Given the description of an element on the screen output the (x, y) to click on. 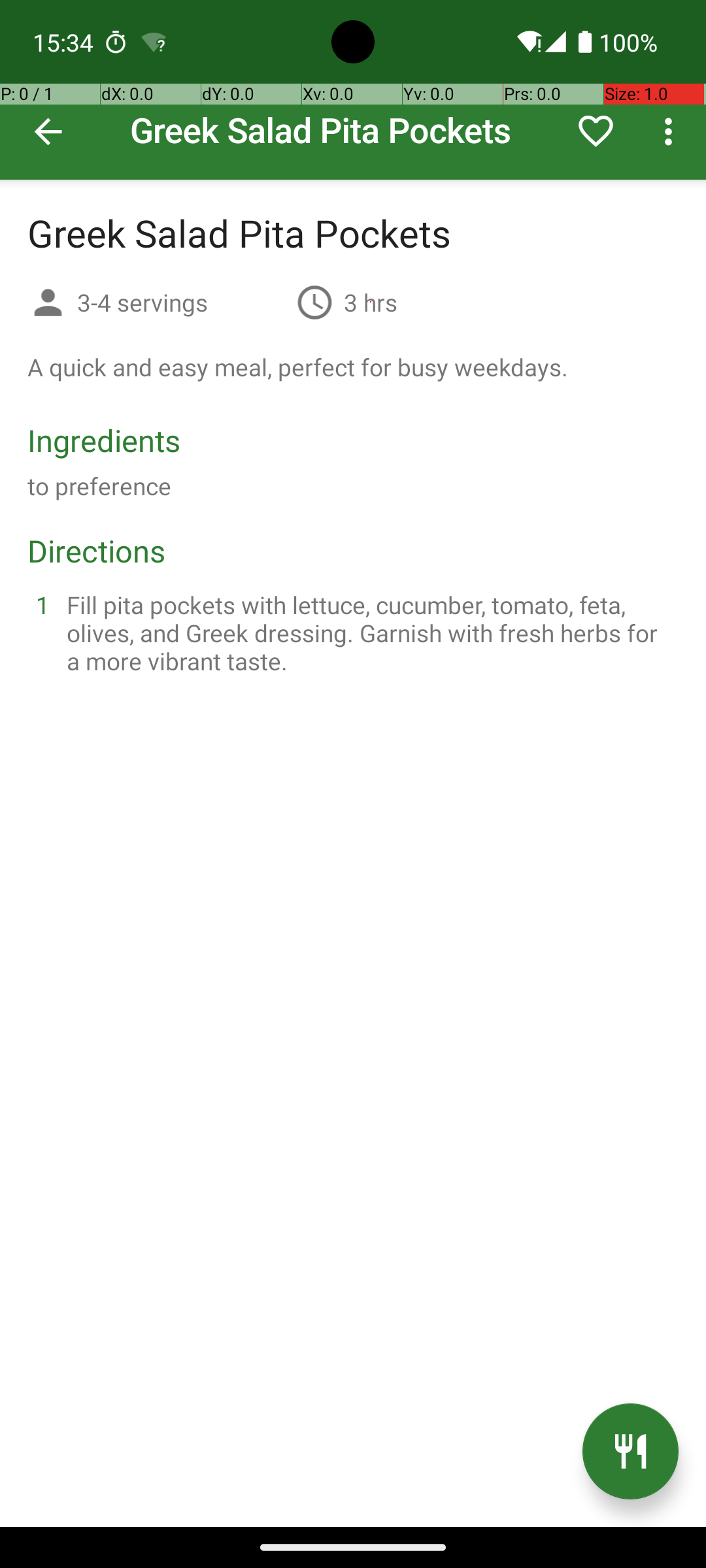
Greek Salad Pita Pockets Element type: android.widget.FrameLayout (353, 89)
3-4 servings Element type: android.widget.TextView (181, 301)
3 hrs Element type: android.widget.TextView (370, 301)
to preference Element type: android.widget.TextView (99, 485)
Fill pita pockets with lettuce, cucumber, tomato, feta, olives, and Greek dressing. Garnish with fresh herbs for a more vibrant taste. Element type: android.widget.TextView (368, 632)
Android System notification: AndroidWifi has limited connectivity Element type: android.widget.ImageView (153, 41)
Wifi signal full.,No internet Element type: android.widget.FrameLayout (527, 41)
